Given the description of an element on the screen output the (x, y) to click on. 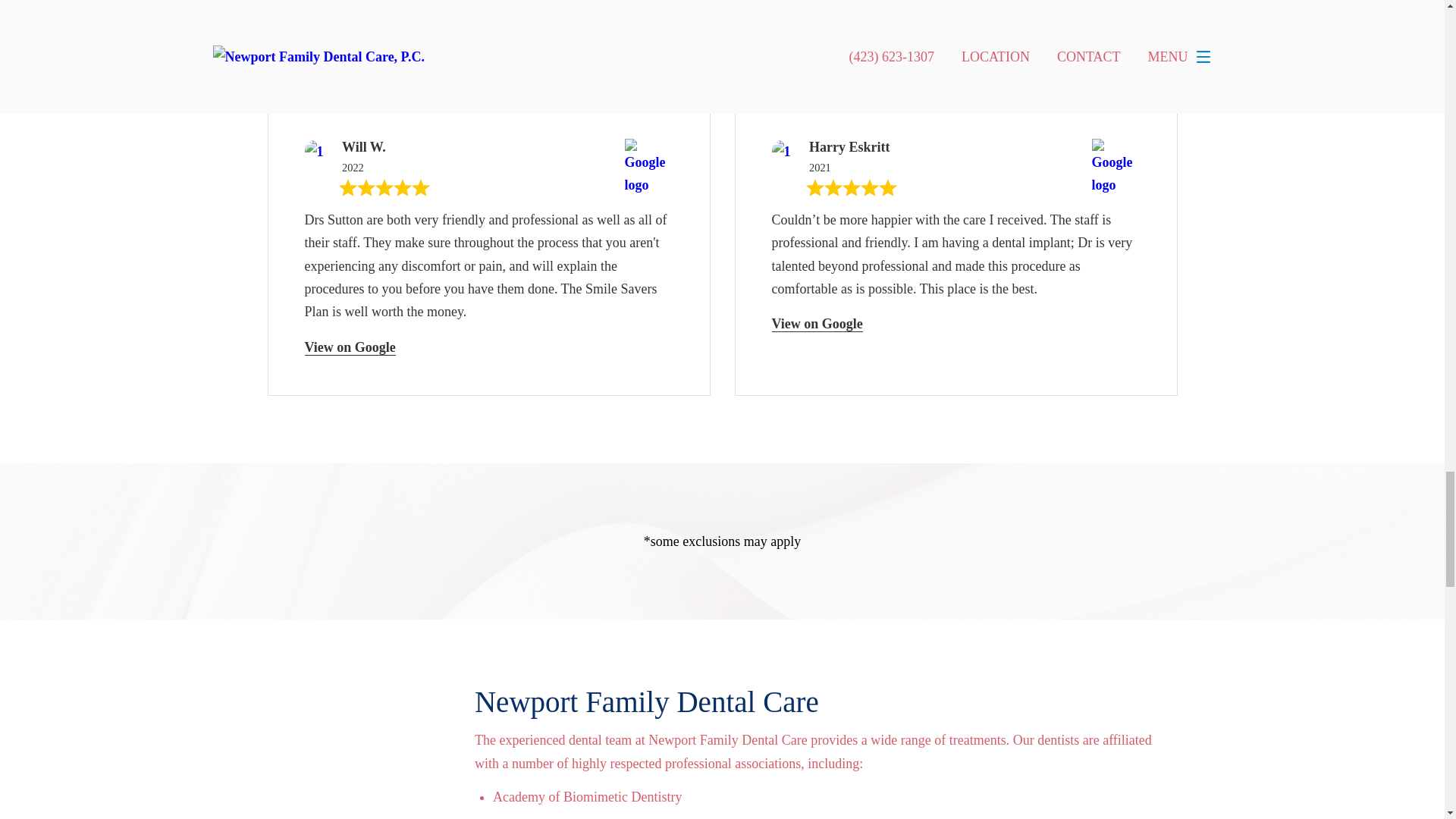
View on Google (350, 347)
View on Google (817, 324)
